Given the description of an element on the screen output the (x, y) to click on. 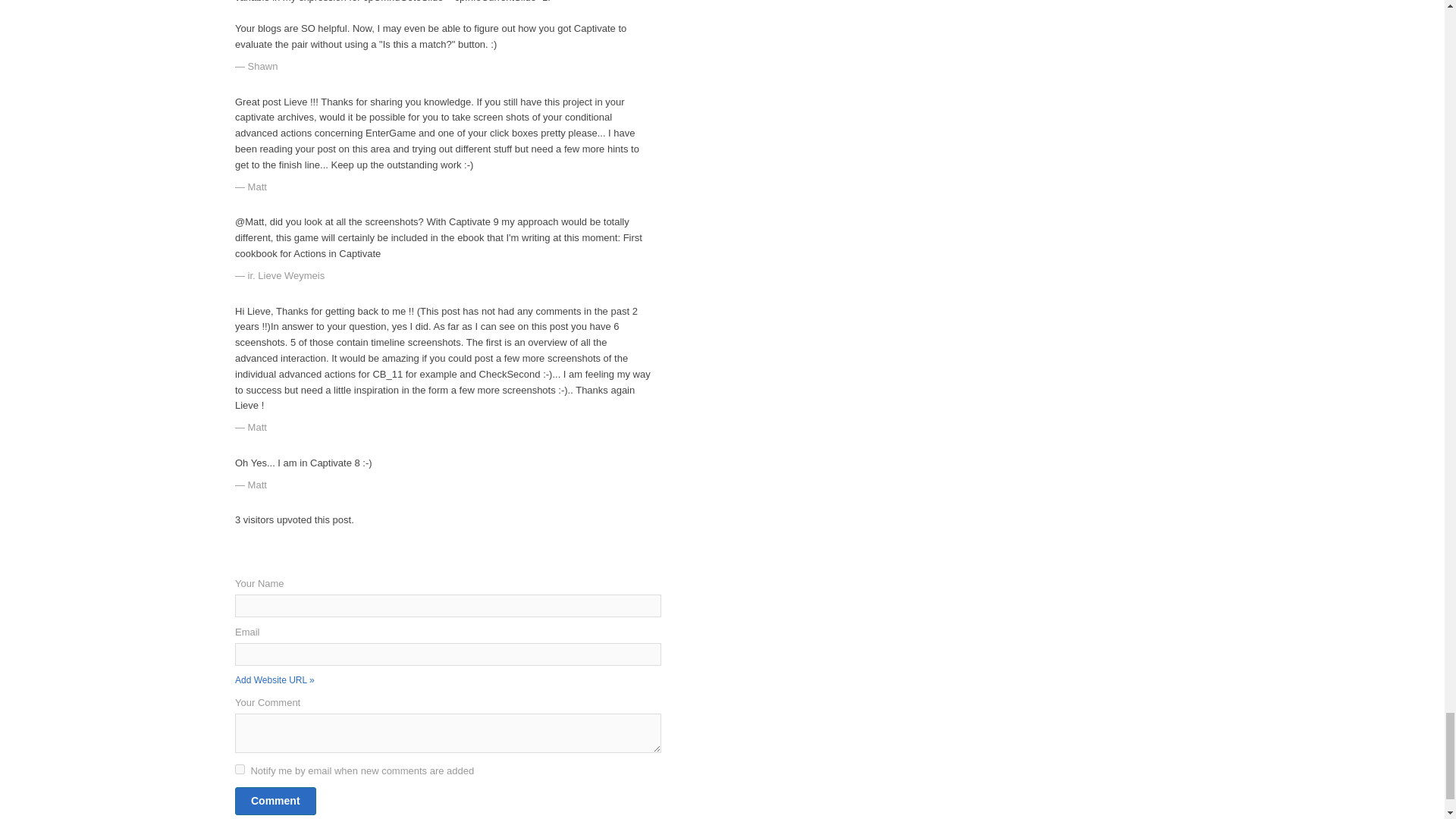
Comment (274, 800)
Comment (274, 800)
true (239, 768)
